Given the description of an element on the screen output the (x, y) to click on. 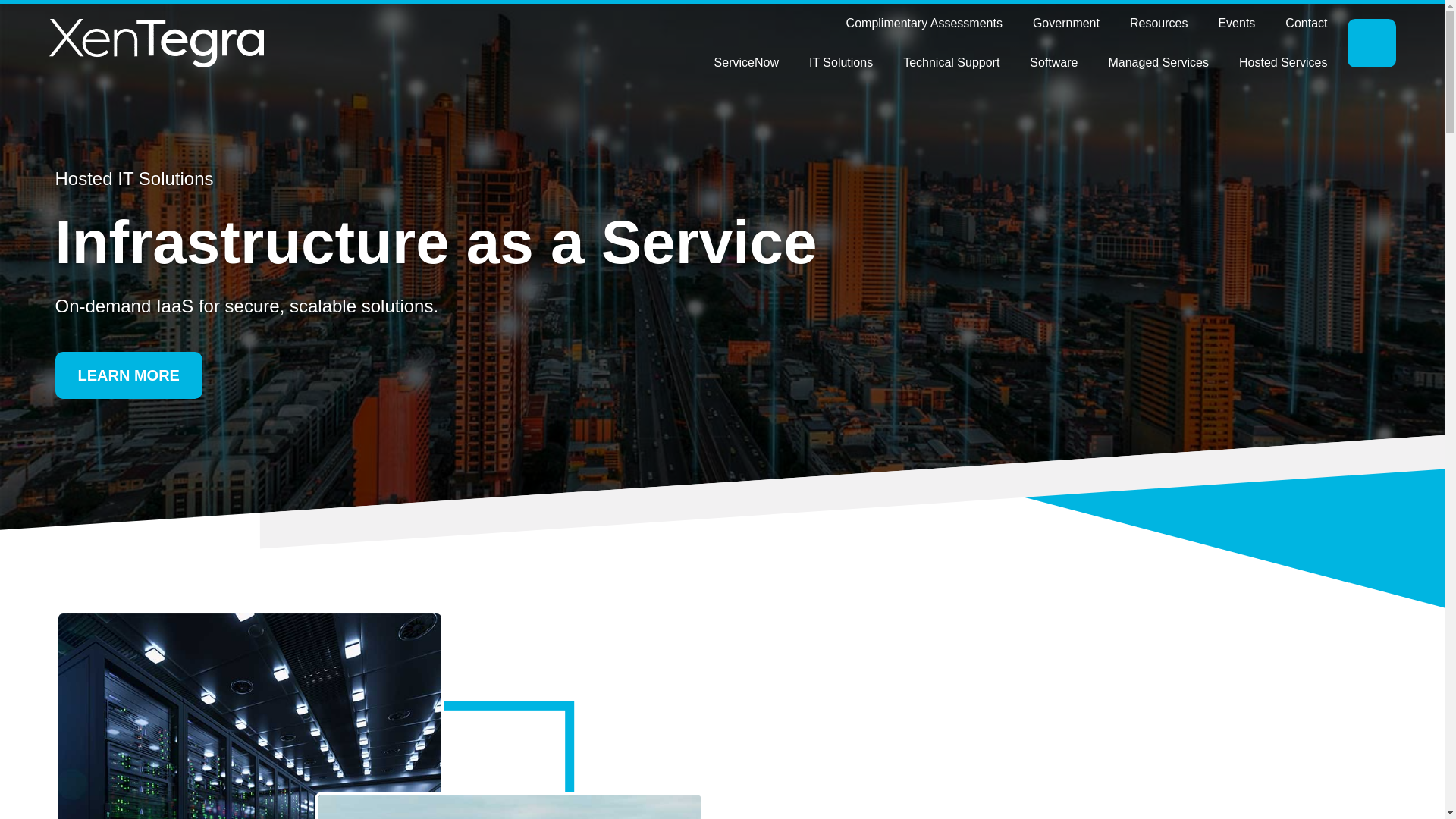
Search (1370, 42)
Search Toggle (1370, 42)
Contact (1305, 23)
Complimentary Assessments (924, 23)
LEARN MORE (128, 375)
Hosted Services (1283, 62)
Resources (1158, 23)
Events (1235, 23)
ServiceNow (745, 62)
IT Solutions (840, 62)
Software (1053, 62)
Managed Services (1158, 62)
Government (1066, 23)
Technical Support (951, 62)
